Given the description of an element on the screen output the (x, y) to click on. 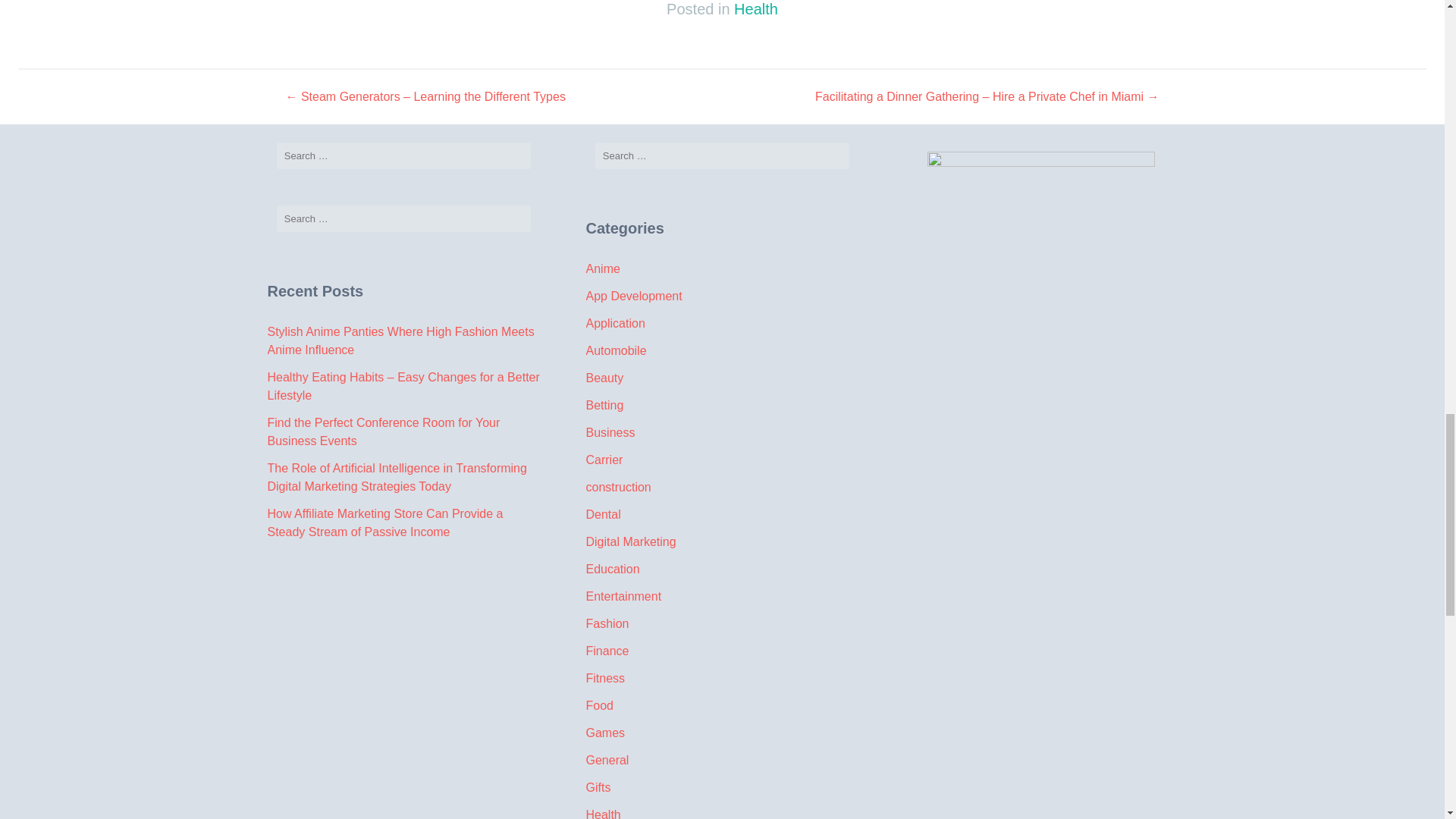
Find the Perfect Conference Room for Your Business Events (382, 431)
Anime (602, 268)
App Development (633, 295)
Automobile (615, 350)
Entertainment (623, 595)
General (606, 759)
Business (609, 431)
Betting (604, 404)
Fashion (606, 623)
Food (598, 705)
Finance (606, 650)
Games (604, 732)
construction (617, 486)
